Given the description of an element on the screen output the (x, y) to click on. 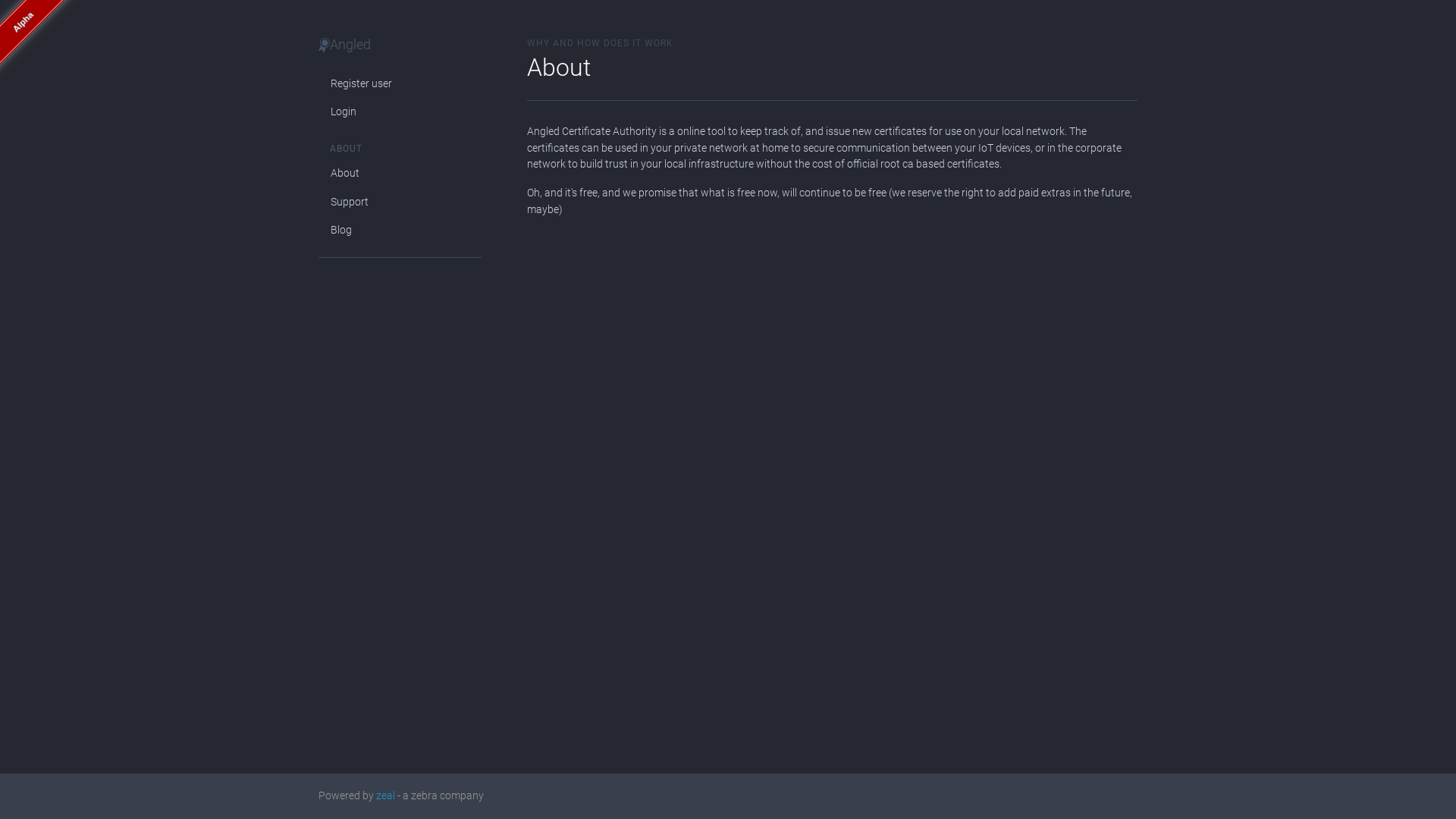
About Element type: text (399, 173)
Register user Element type: text (399, 83)
Login Element type: text (399, 111)
Angled Element type: text (344, 44)
zeal Element type: text (385, 795)
